Given the description of an element on the screen output the (x, y) to click on. 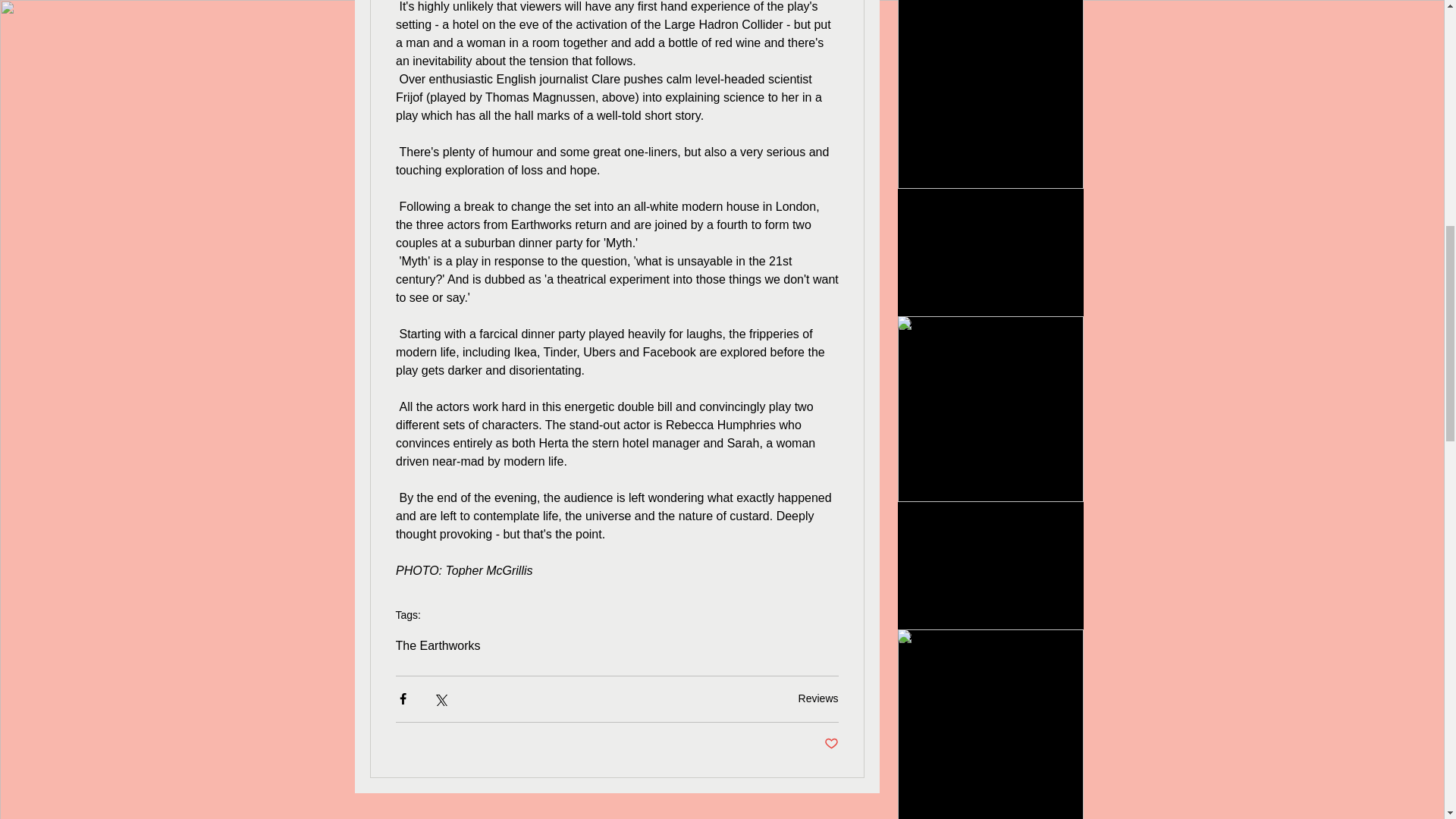
The Earthworks (438, 645)
Reviews (817, 698)
Full Casting Announced for RSC's Othello (990, 536)
Dracula (990, 216)
Post not marked as liked (831, 744)
